Given the description of an element on the screen output the (x, y) to click on. 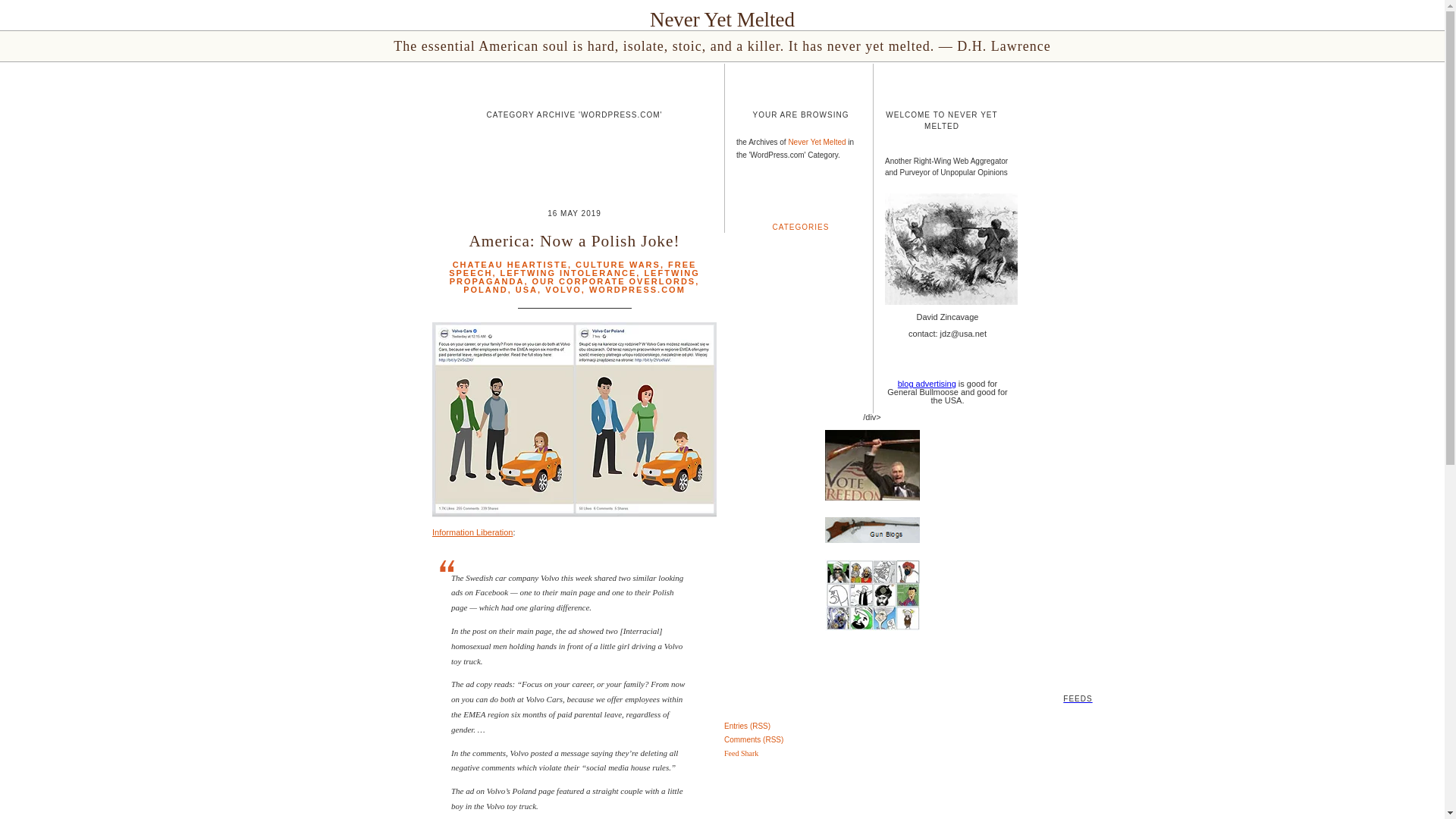
LEFTWING PROPAGANDA (574, 276)
LEFTWING INTOLERANCE (568, 272)
USA (526, 289)
Never Yet Melted (721, 19)
blog advertising (927, 383)
OUR CORPORATE OVERLORDS (613, 280)
Never Yet Melted (816, 142)
Feed Shark (740, 753)
CULTURE WARS (618, 264)
VOLVO (562, 289)
